Given the description of an element on the screen output the (x, y) to click on. 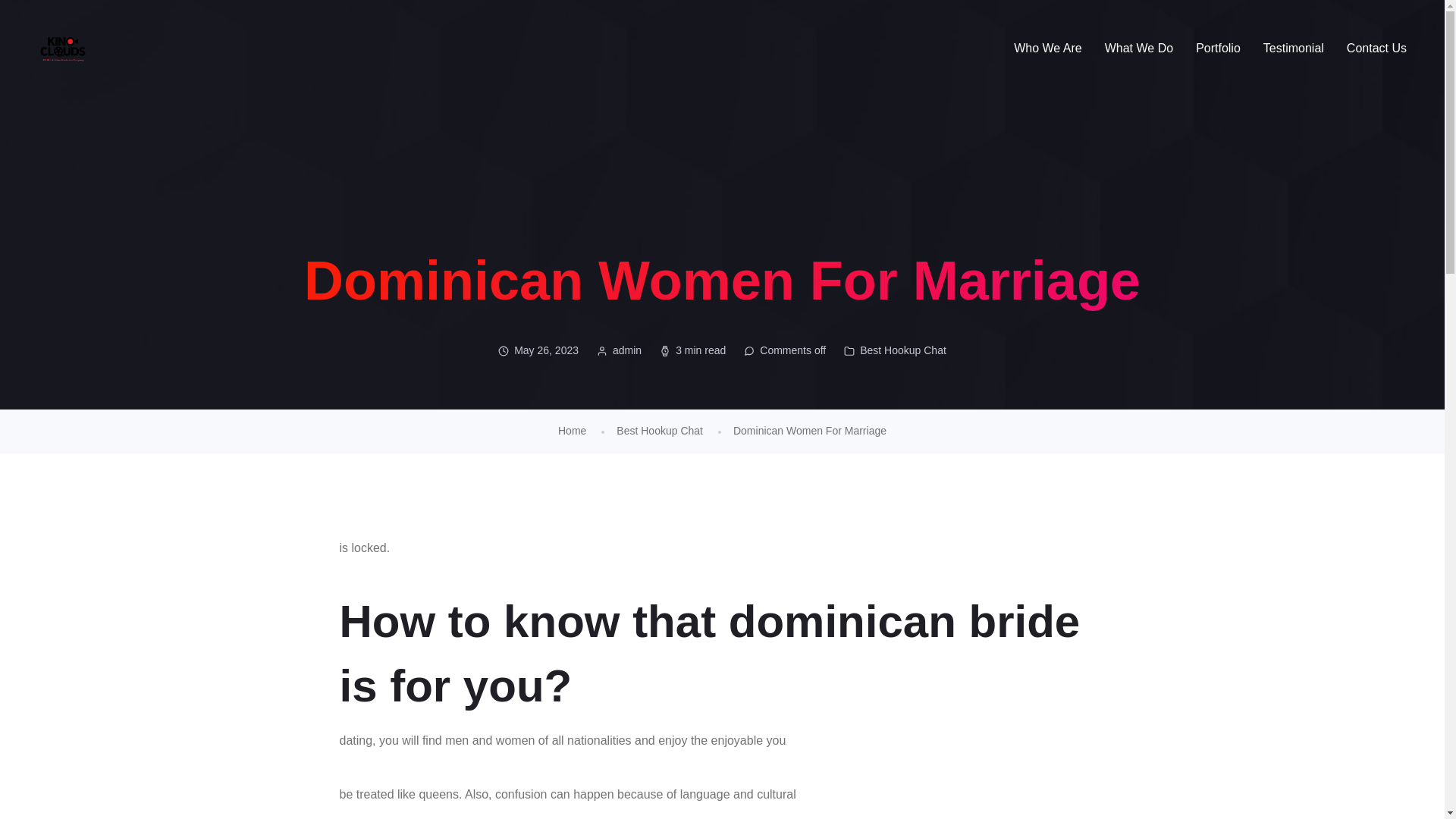
Kino Clouds (62, 48)
Home (571, 430)
Best Hookup Chat (903, 350)
Testimonial (1293, 48)
Home (571, 430)
Who We Are (1047, 48)
Best Hookup Chat (659, 430)
What We Do (1139, 48)
Dominican Women For Marriage (809, 430)
Contact Us (1376, 48)
